Given the description of an element on the screen output the (x, y) to click on. 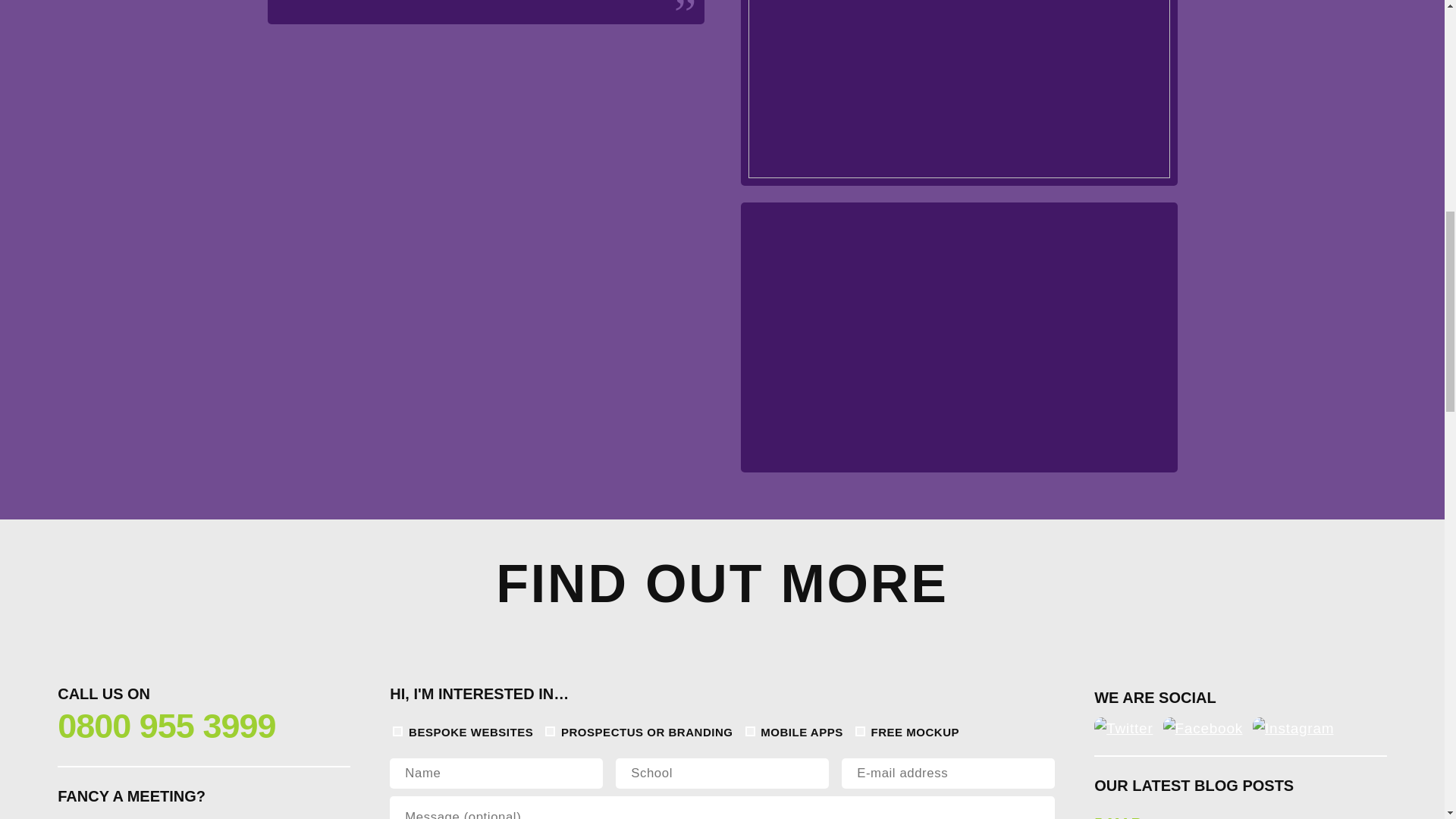
The Market Bosworth School website (957, 92)
Y (398, 731)
Y (860, 731)
Y (750, 731)
Y (549, 731)
